Given the description of an element on the screen output the (x, y) to click on. 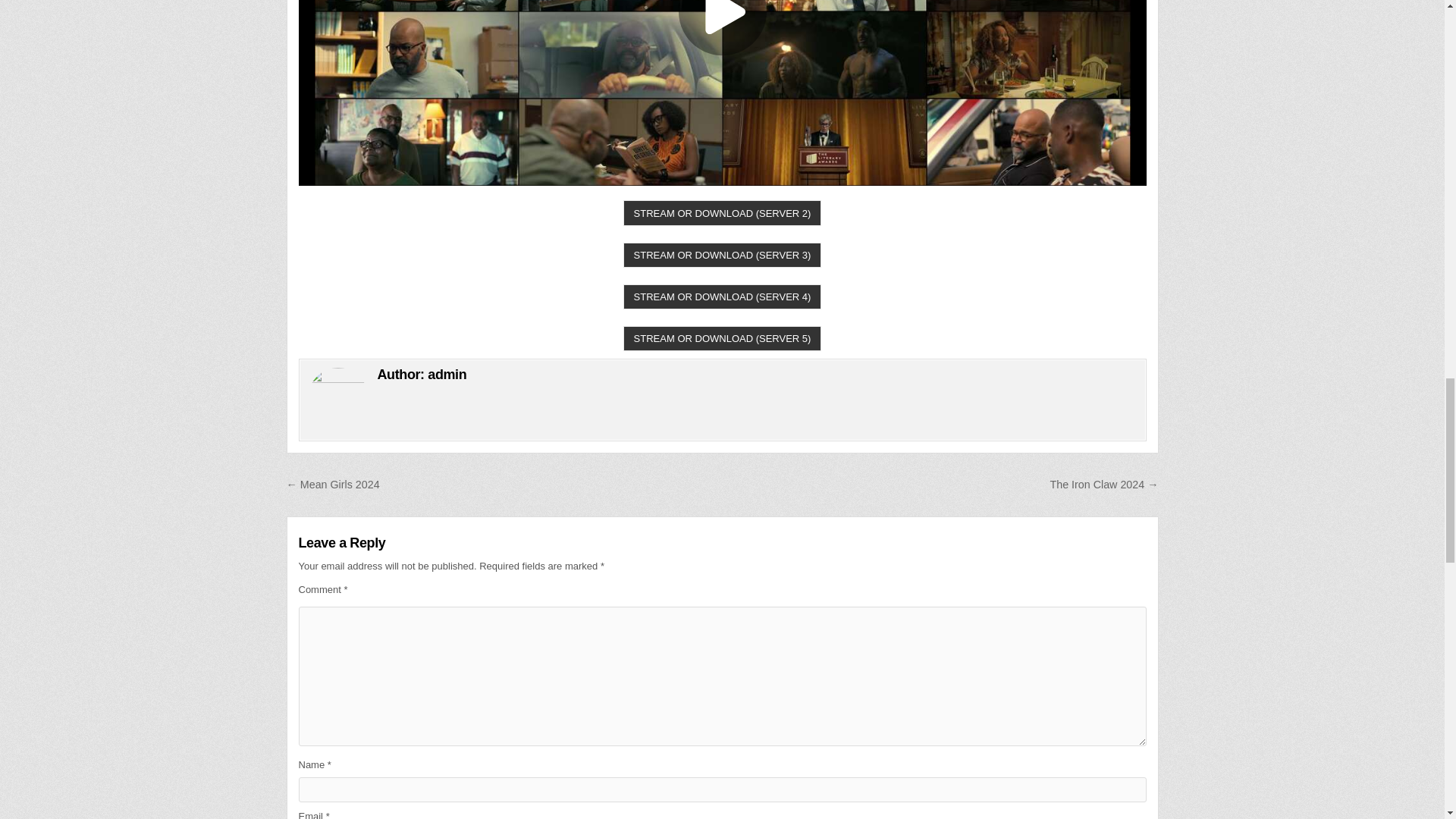
admin (446, 374)
